Given the description of an element on the screen output the (x, y) to click on. 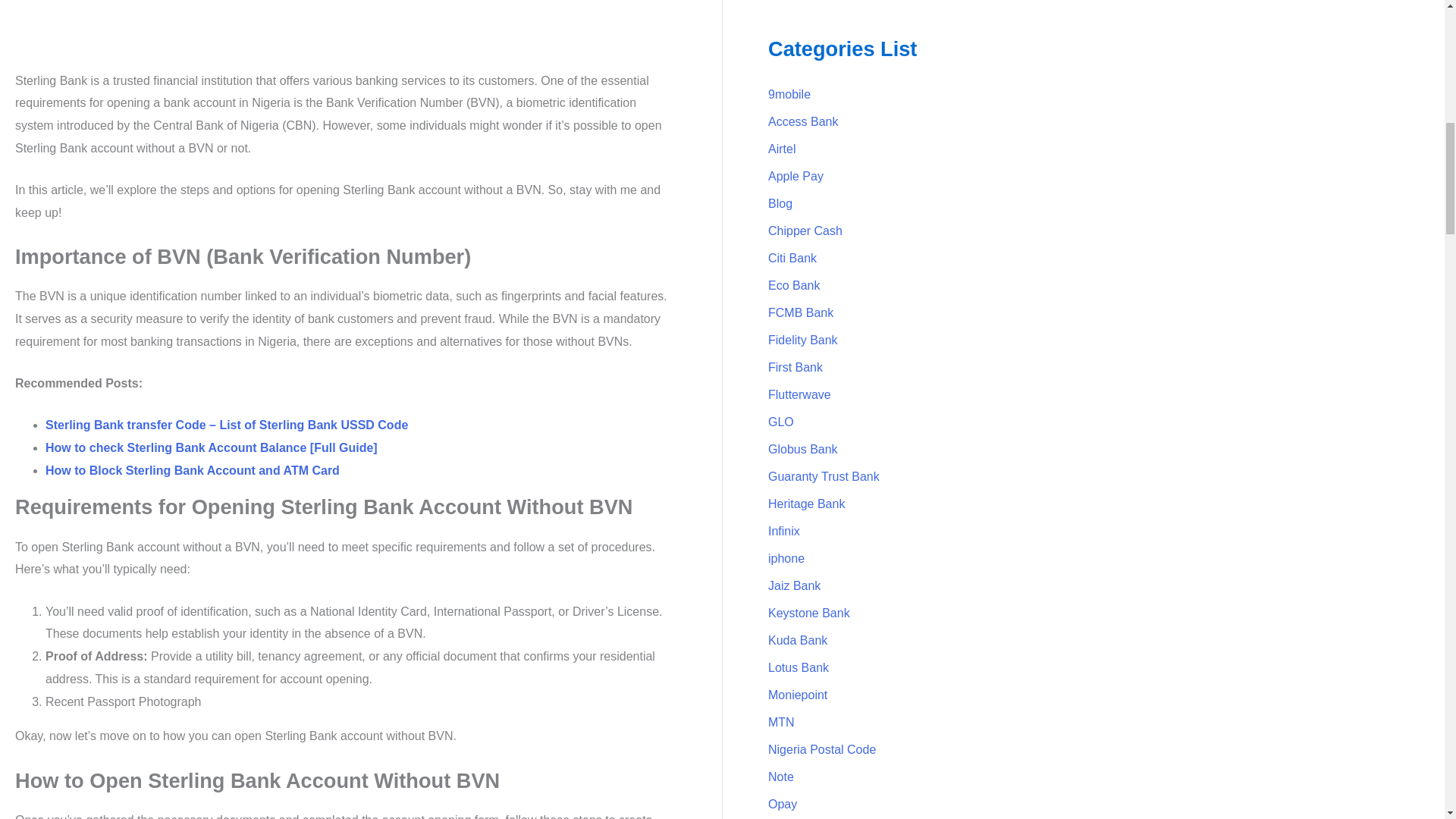
How to Open Sterling Bank Account Without BVN (346, 28)
